Given the description of an element on the screen output the (x, y) to click on. 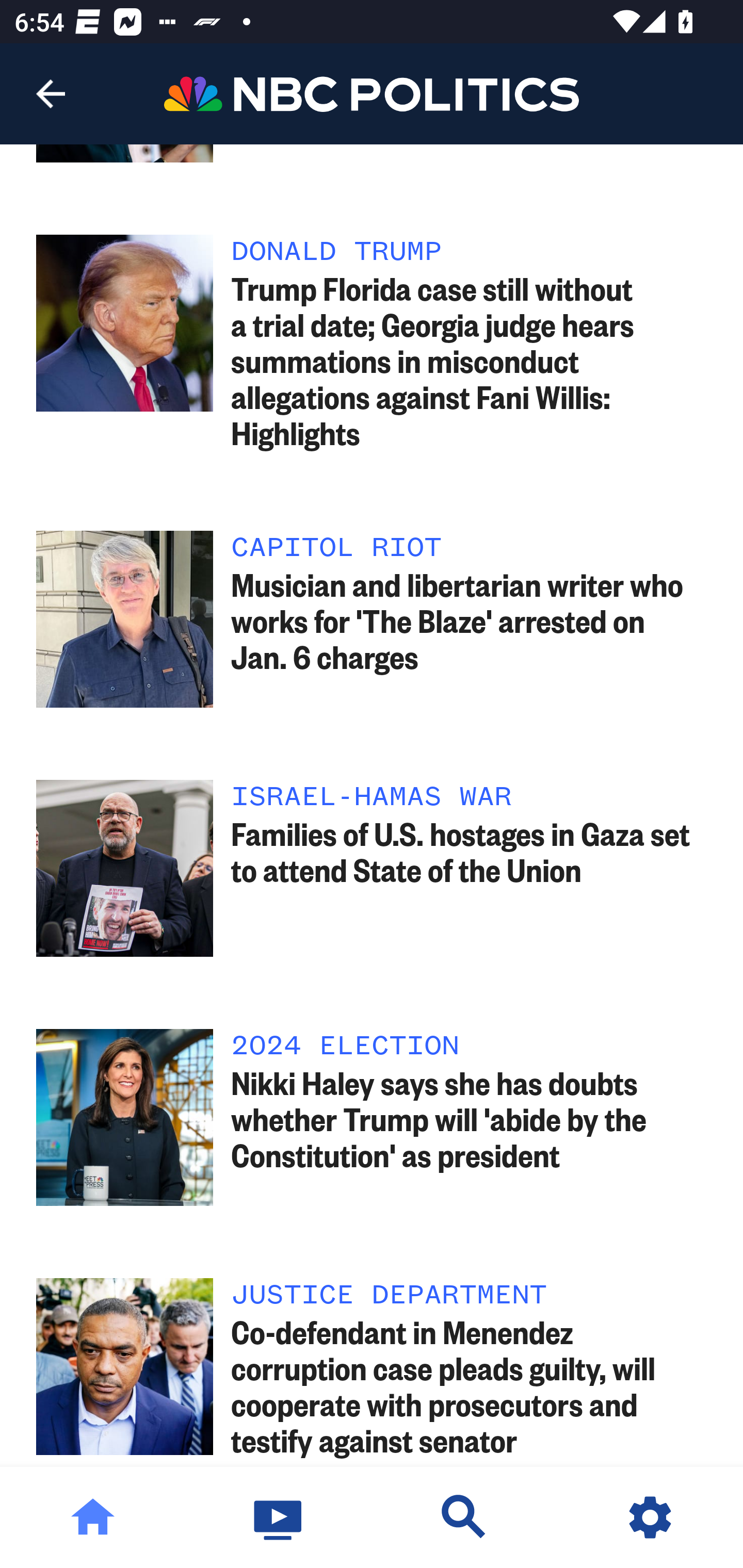
Navigate up (50, 93)
Watch (278, 1517)
Discover (464, 1517)
Settings (650, 1517)
